Given the description of an element on the screen output the (x, y) to click on. 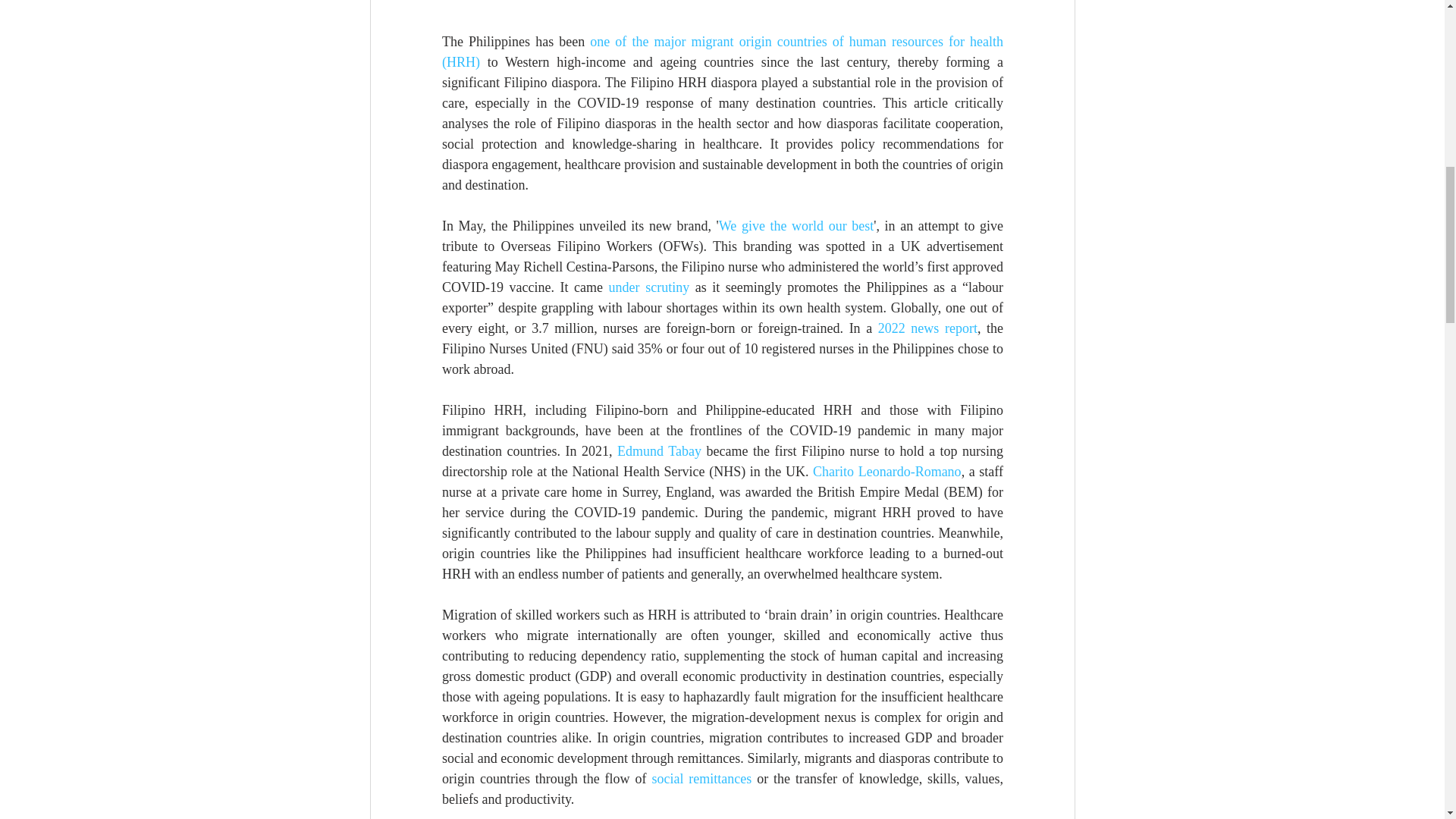
under scrutiny (648, 287)
social remittances (700, 778)
Charito Leonardo-Romano (886, 471)
We give the world our best (794, 225)
2022 news report (926, 328)
Edmund Tabay (659, 450)
